Given the description of an element on the screen output the (x, y) to click on. 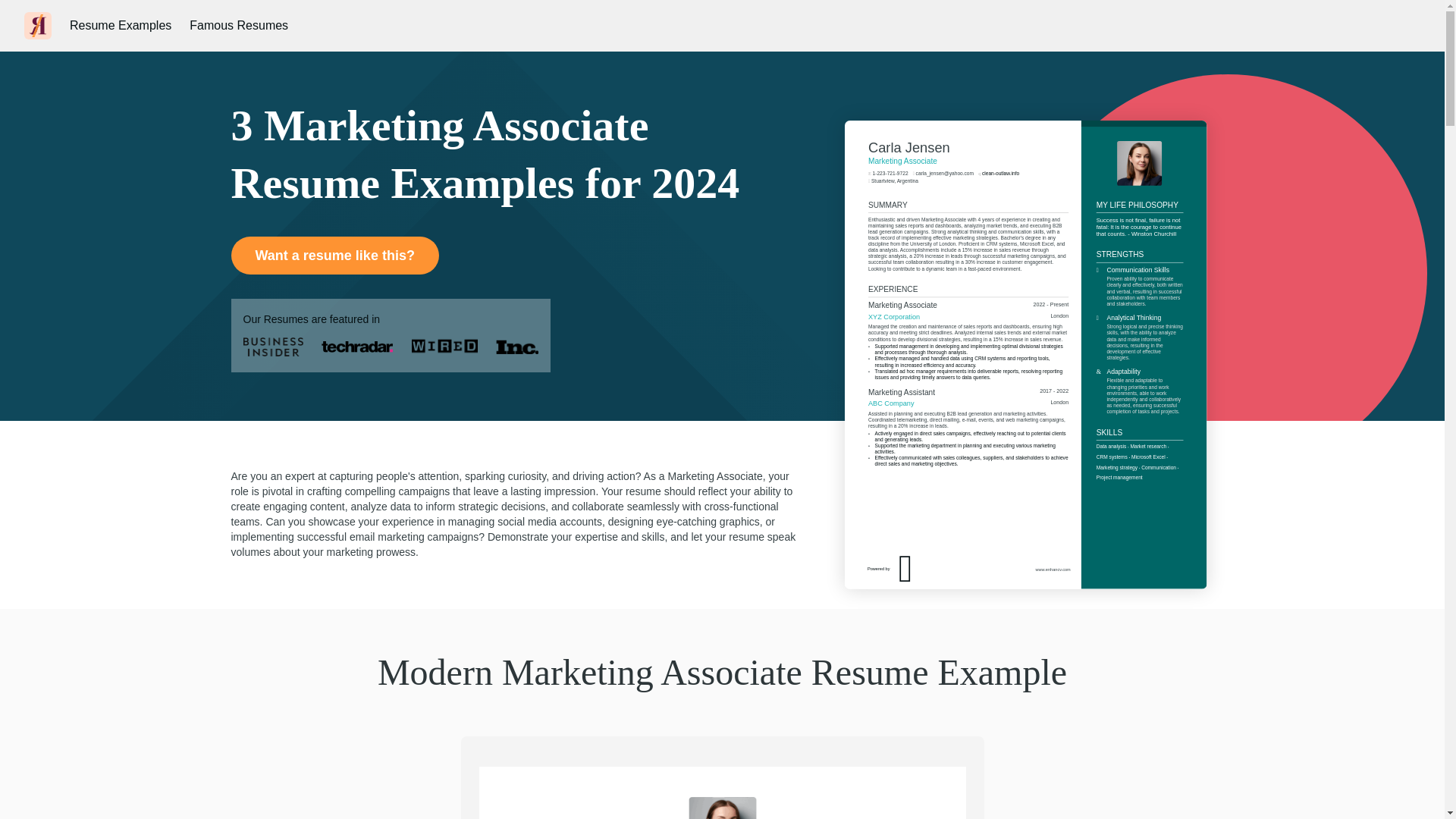
Powered by (939, 598)
Resume Examples (120, 26)
Famous Resumes (238, 26)
clean-outlaw.info (1023, 214)
Want a resume like this? (334, 255)
